Given the description of an element on the screen output the (x, y) to click on. 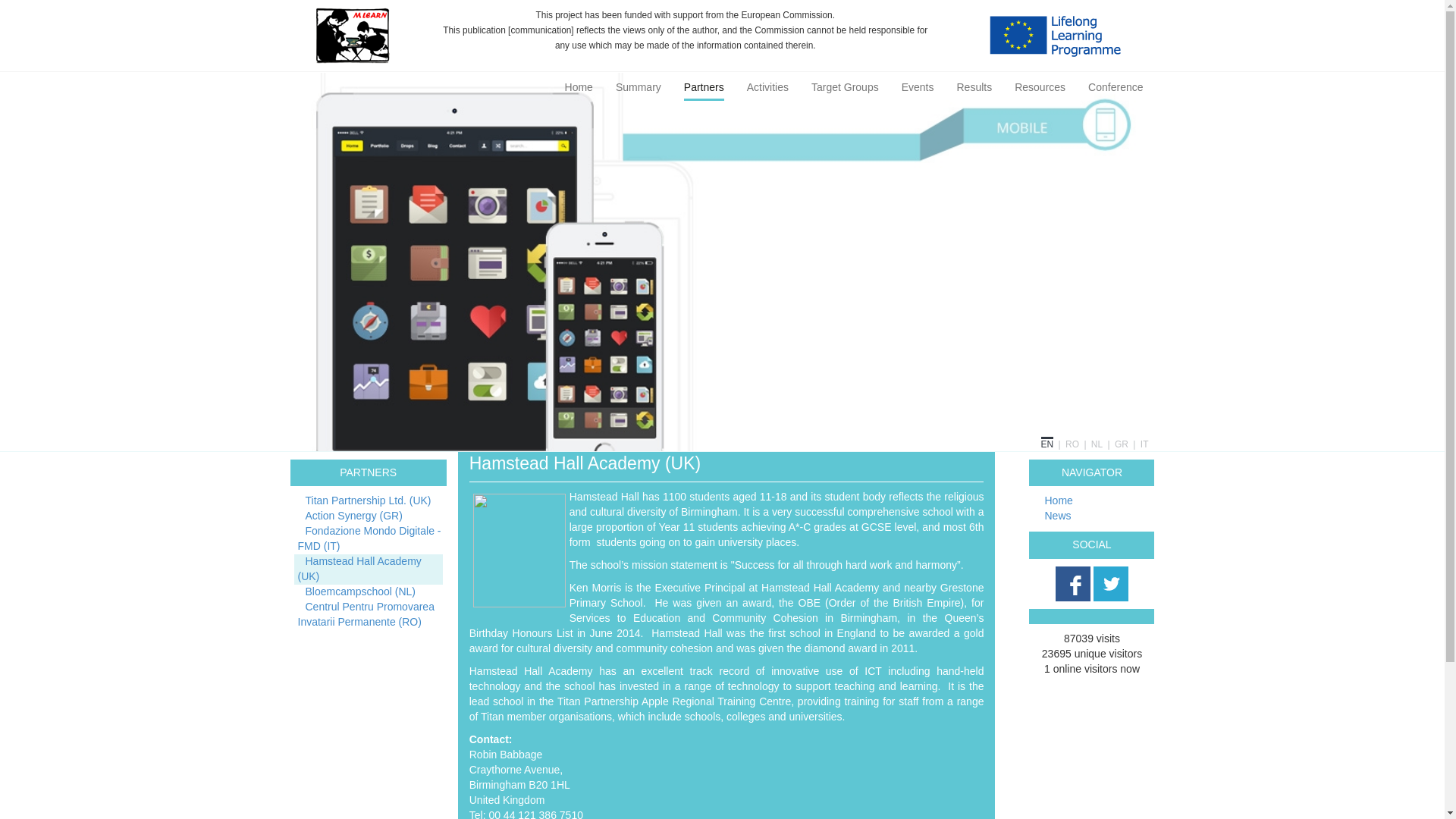
Target Groups (844, 85)
Partners (703, 86)
Resources (1039, 85)
GR (1121, 443)
News (1057, 515)
IT (1144, 443)
NL (1096, 443)
RO (1071, 443)
Summary (638, 85)
Home (578, 85)
Events (917, 85)
Conference (1114, 85)
EN (1047, 442)
Activities (767, 85)
Home (1058, 500)
